Given the description of an element on the screen output the (x, y) to click on. 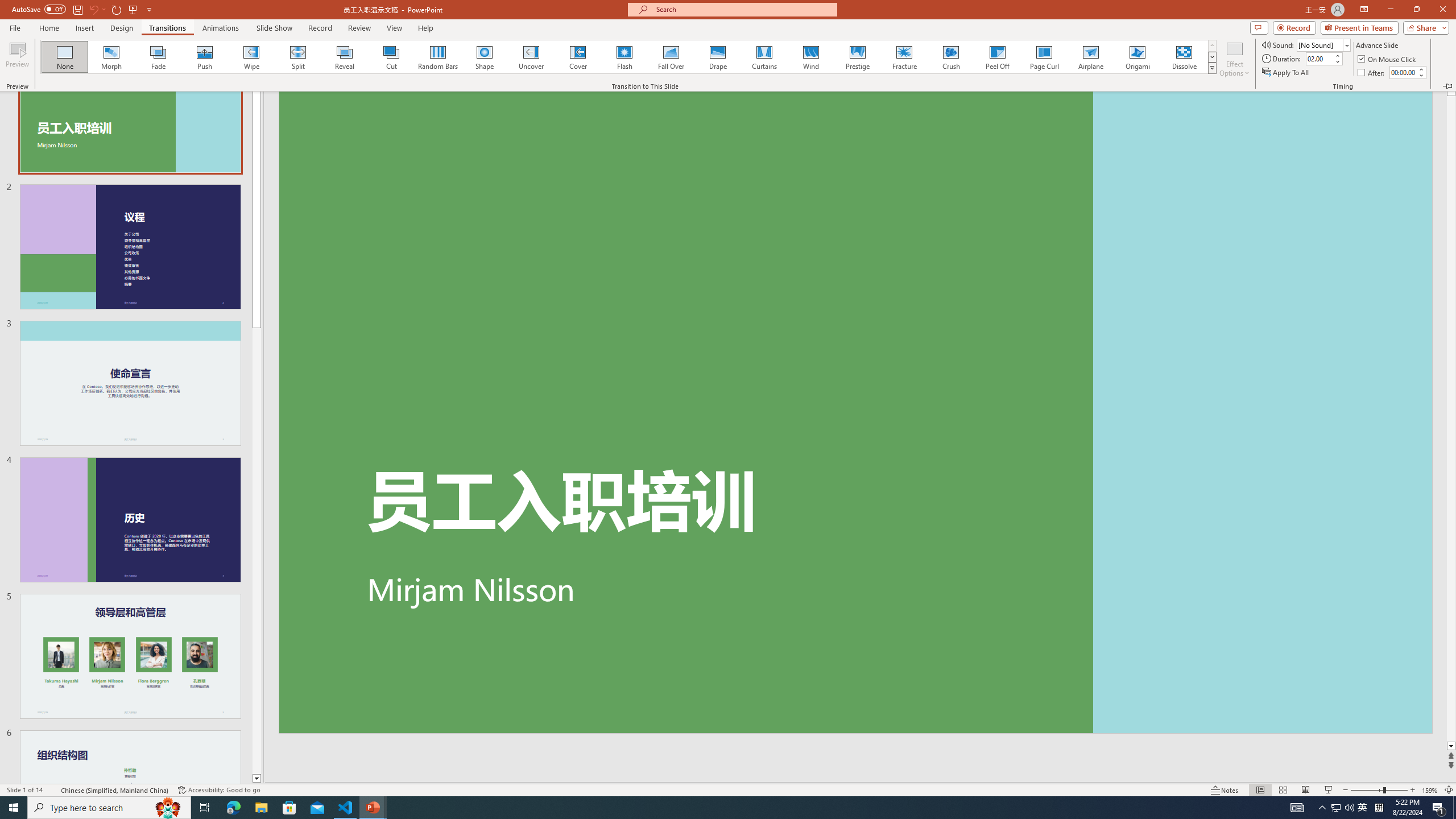
PowerPoint - 2 running windows (373, 807)
